Given the description of an element on the screen output the (x, y) to click on. 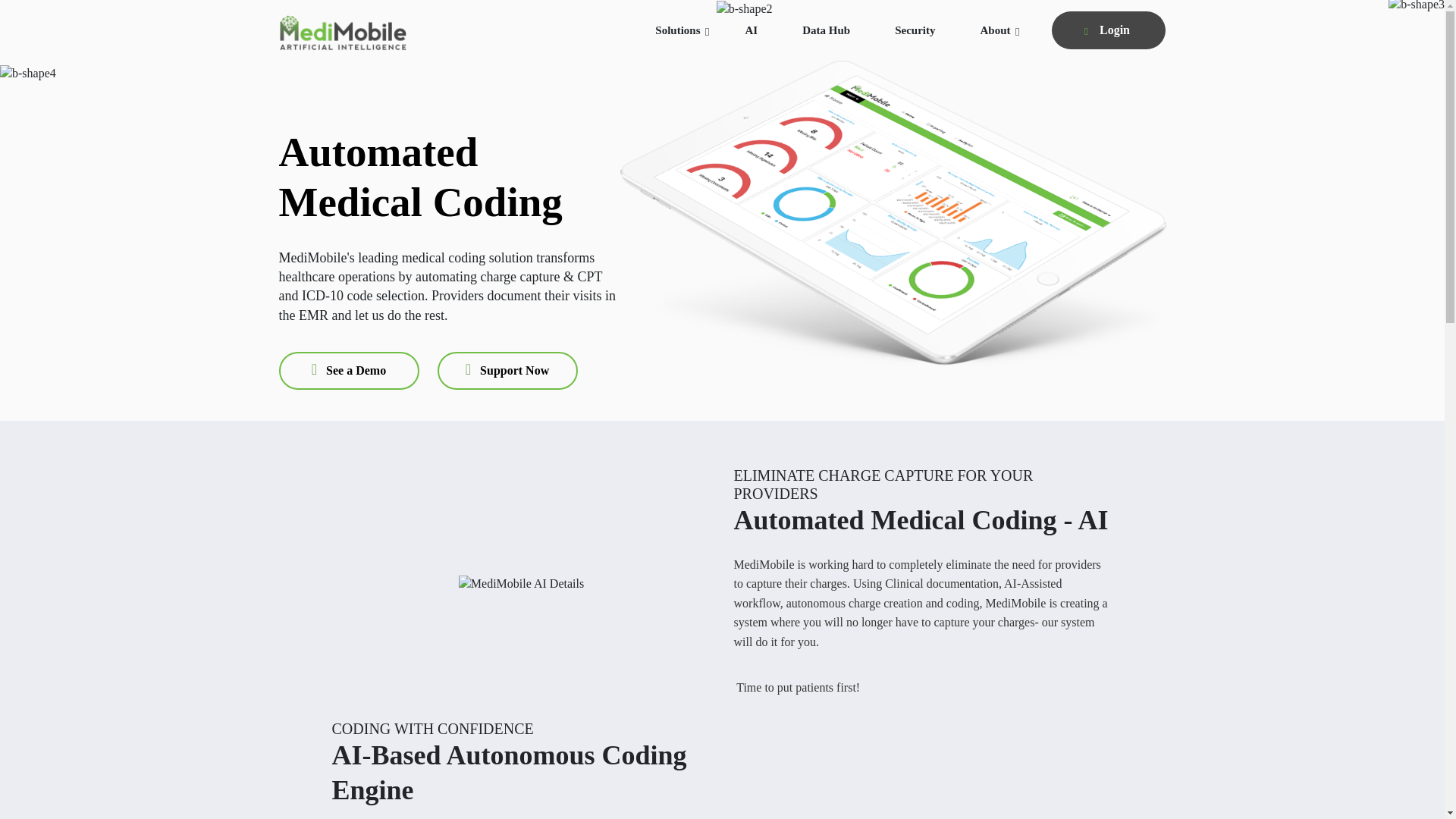
Solutions (677, 41)
Data Hub (826, 41)
Security (914, 41)
Login (1108, 29)
See a Demo (349, 370)
Support Now (506, 370)
